Given the description of an element on the screen output the (x, y) to click on. 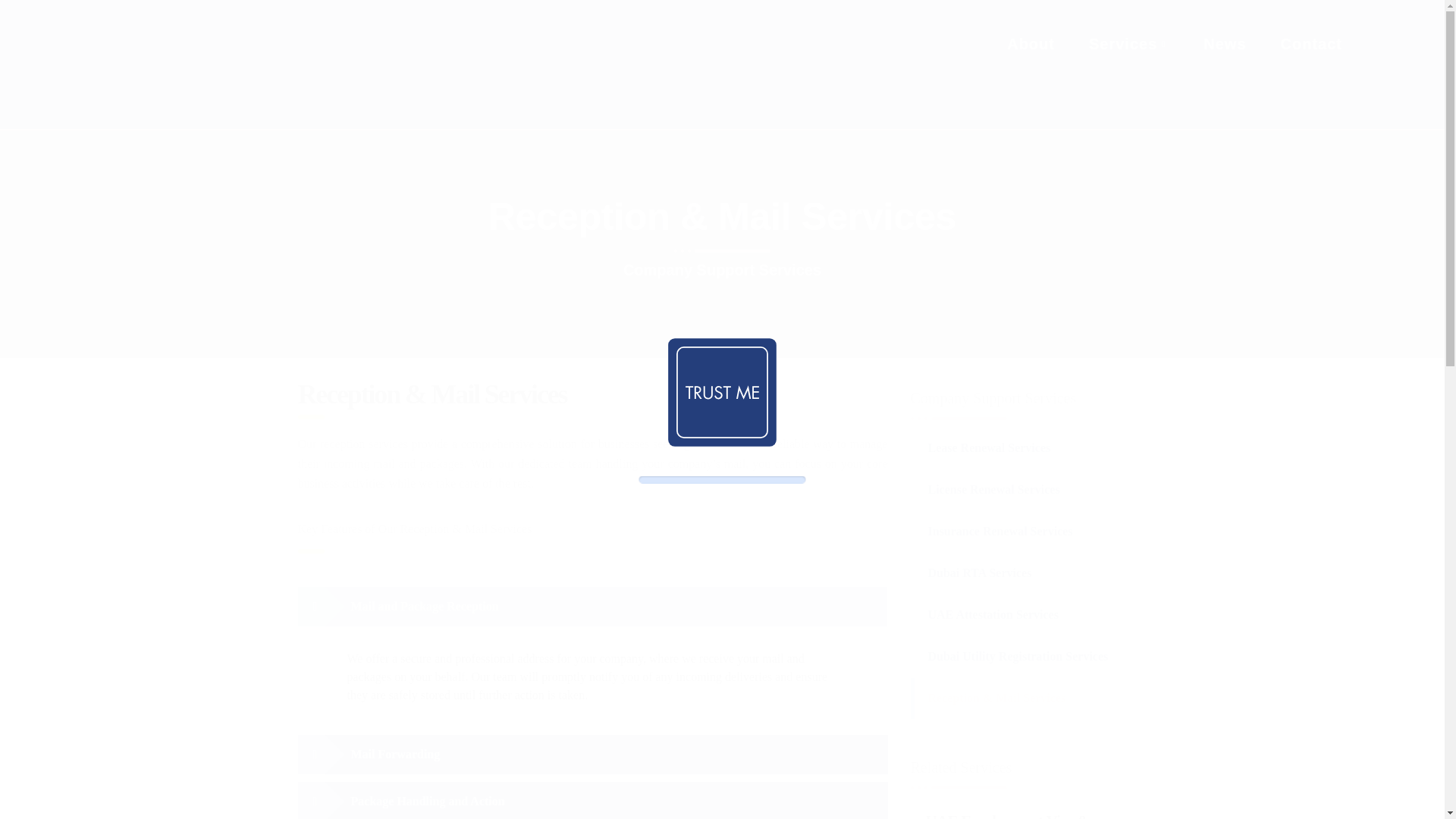
About (1032, 45)
Services (1131, 45)
